Given the description of an element on the screen output the (x, y) to click on. 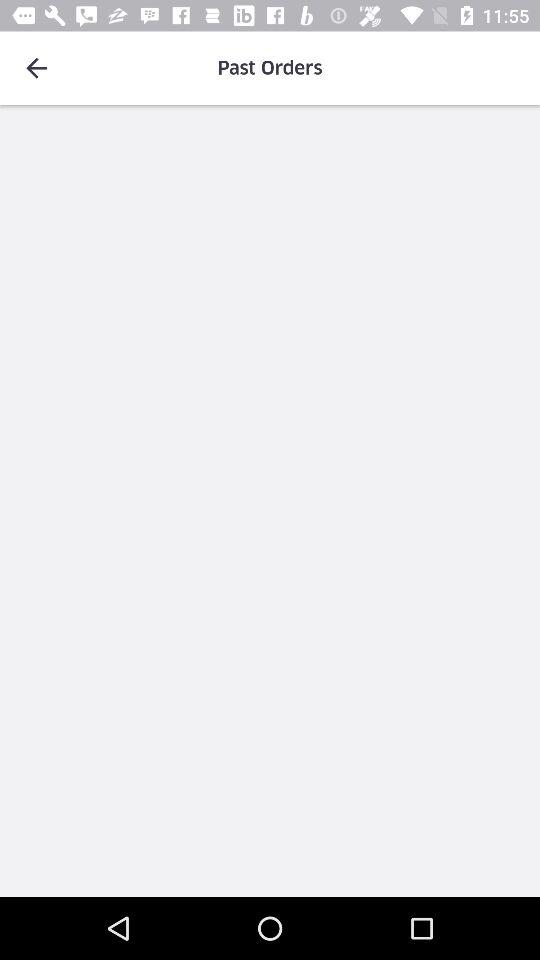
turn off icon next to the past orders icon (36, 68)
